Given the description of an element on the screen output the (x, y) to click on. 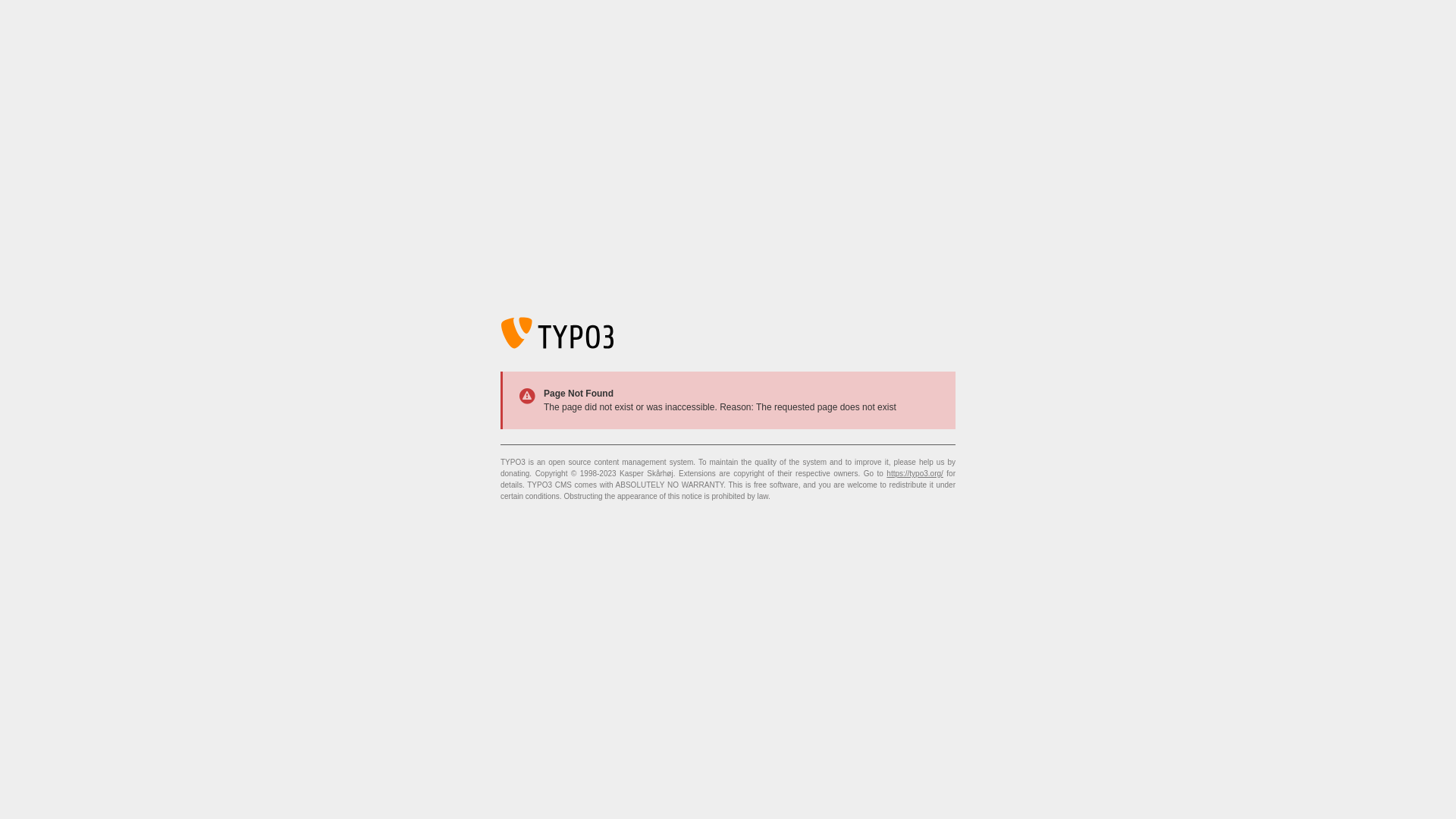
https://typo3.org/ Element type: text (914, 473)
